Given the description of an element on the screen output the (x, y) to click on. 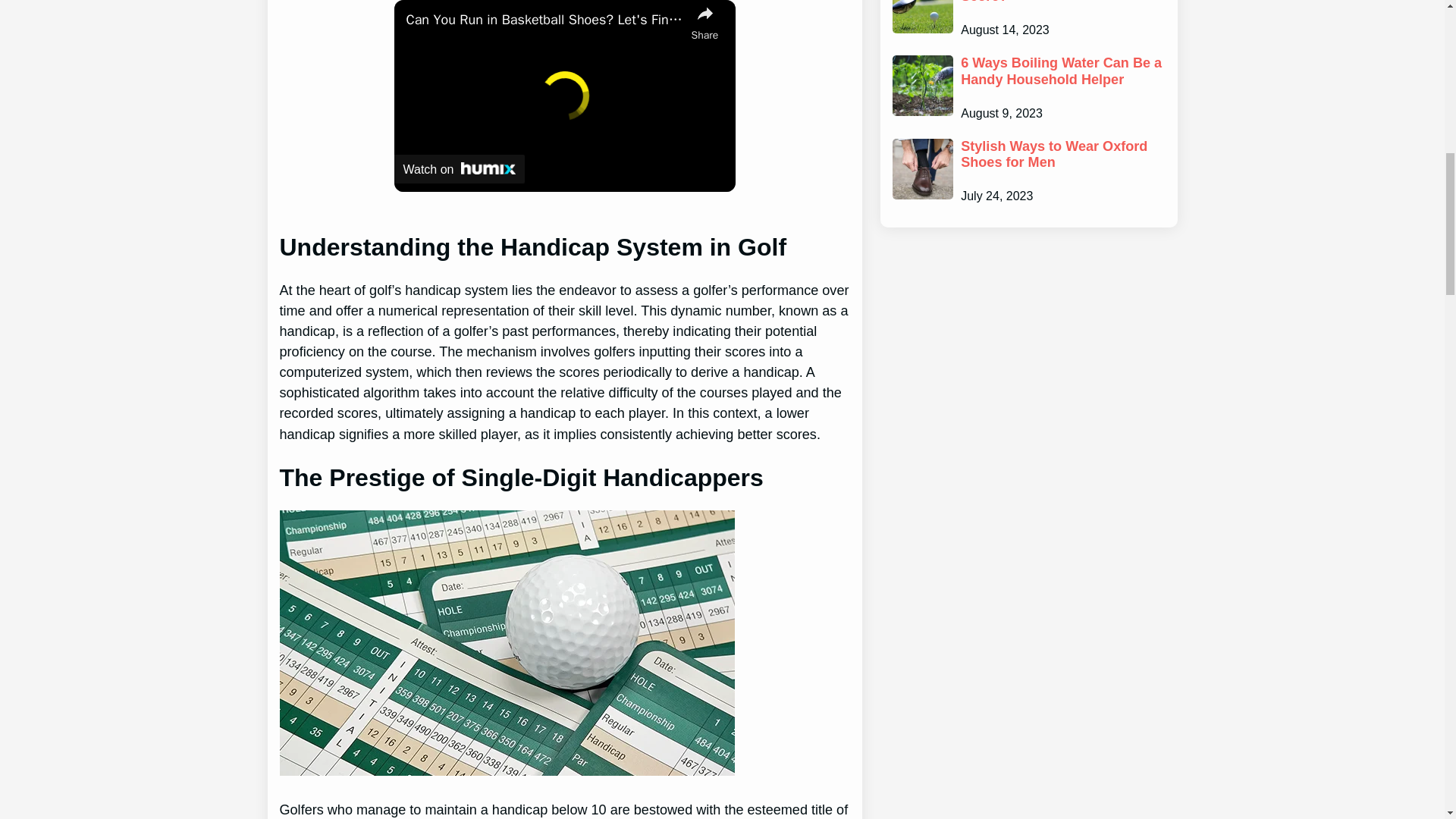
6 Ways Boiling Water Can Be a Handy Household Helper (1062, 71)
Can You Run in Basketball Shoes? Let's Find Out! (545, 20)
Watch on (459, 168)
Stylish Ways to Wear Oxford Shoes for Men (1062, 154)
Stylish Ways to Wear Oxford Shoes for Men 8 (921, 168)
How does 'T' work in Golf Score? 2 (506, 642)
6 Ways Boiling Water Can Be a Handy Household Helper 7 (921, 85)
How does 'T' work in Golf Score? 6 (921, 16)
